Given the description of an element on the screen output the (x, y) to click on. 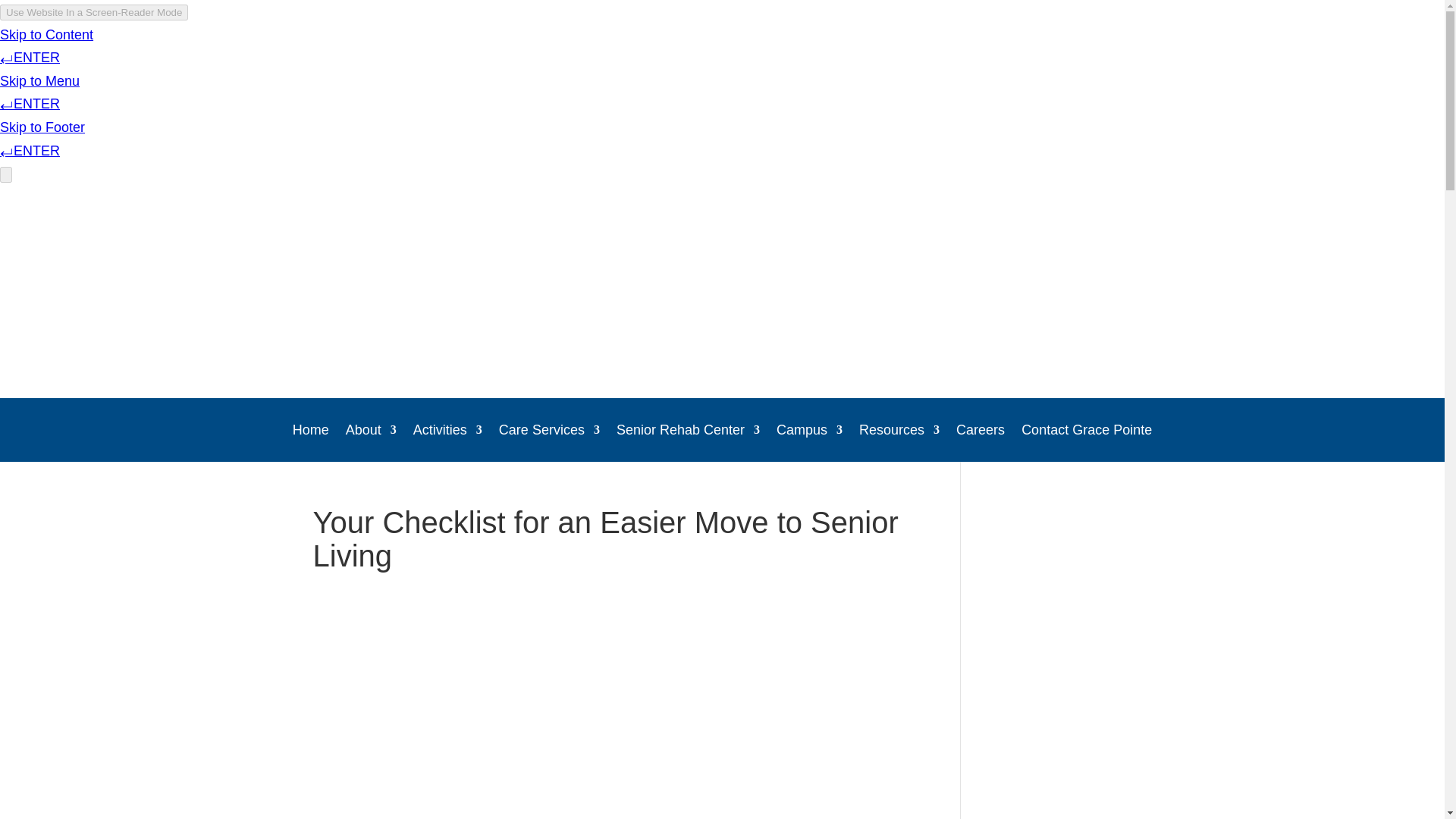
Activities (447, 433)
Careers (980, 433)
Care Services (549, 433)
Senior Rehab Center (687, 433)
Resources (899, 433)
Contact Grace Pointe (1086, 433)
Campus (809, 433)
Home (310, 433)
About (371, 433)
